Given the description of an element on the screen output the (x, y) to click on. 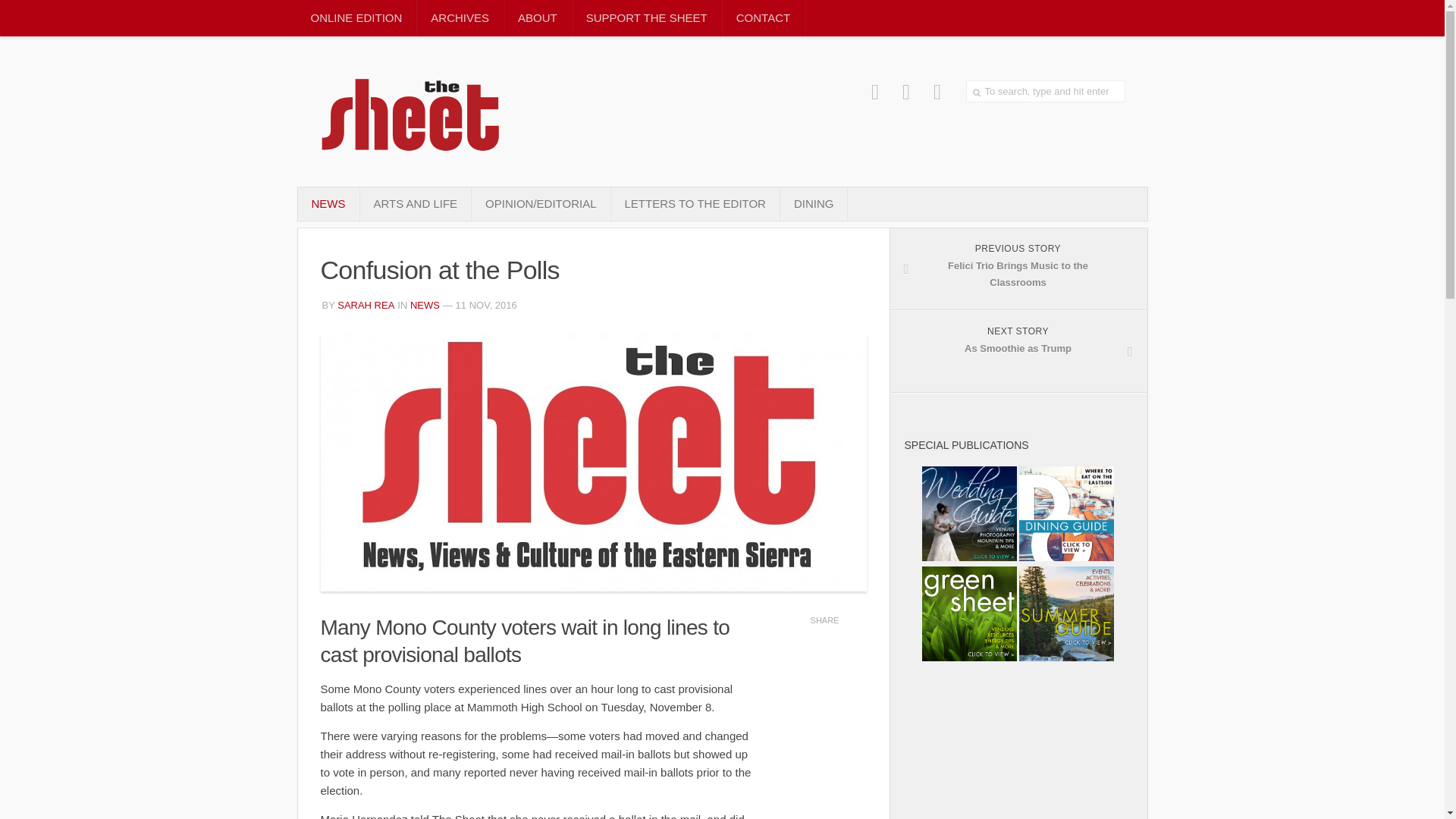
To search, type and hit enter (1045, 91)
The Sheet on Facebook (874, 92)
ABOUT (536, 18)
RSS feed (1018, 352)
DINING (936, 92)
To search, type and hit enter (813, 203)
ARTS AND LIFE (1045, 91)
SARAH REA (414, 203)
ONLINE EDITION (365, 305)
NEWS (356, 18)
LETTERS TO THE EDITOR (424, 305)
Posts by Sarah Rea (694, 203)
ARCHIVES (365, 305)
